Given the description of an element on the screen output the (x, y) to click on. 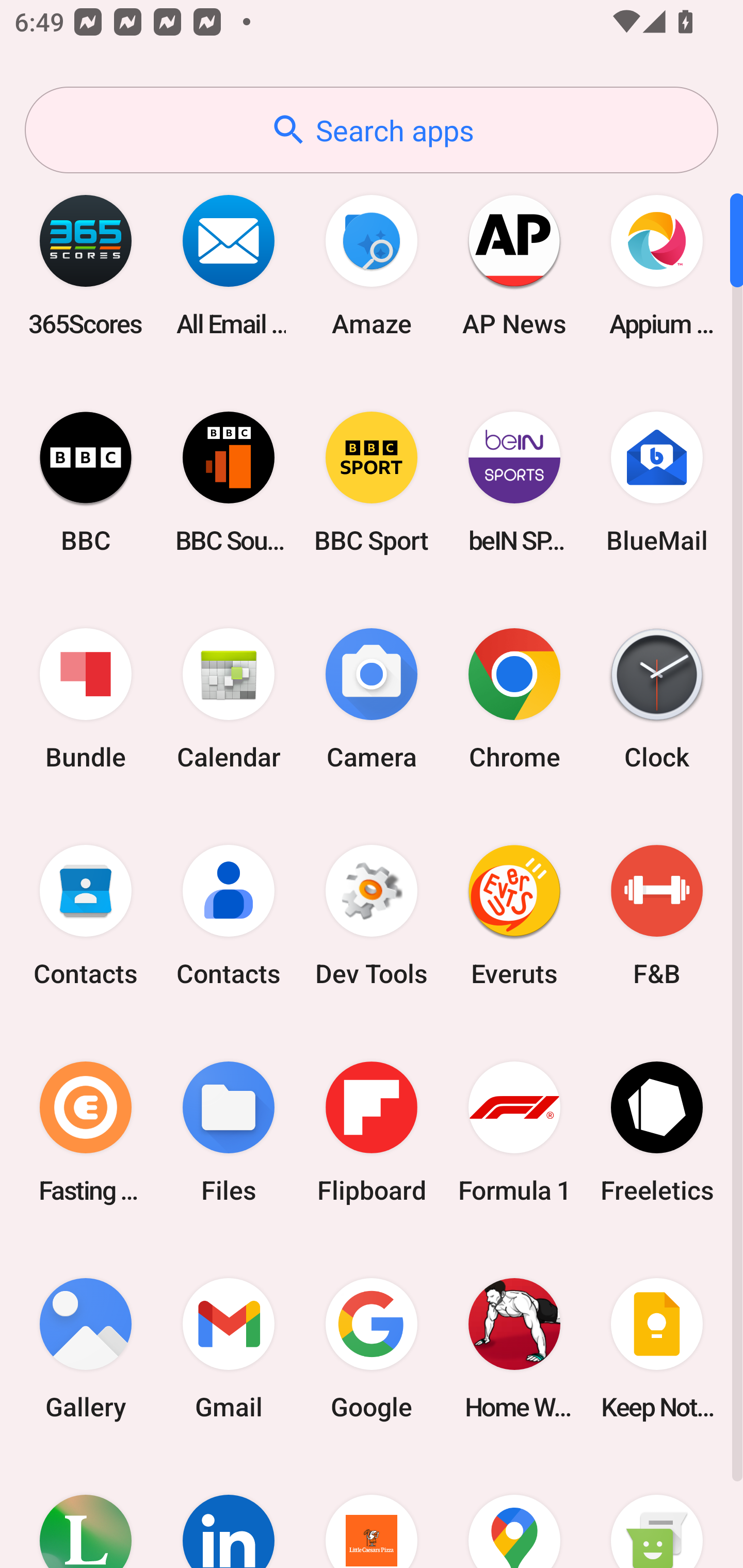
  Search apps (371, 130)
365Scores (85, 264)
All Email Connect (228, 264)
Amaze (371, 264)
AP News (514, 264)
Appium Settings (656, 264)
BBC (85, 482)
BBC Sounds (228, 482)
BBC Sport (371, 482)
beIN SPORTS (514, 482)
BlueMail (656, 482)
Bundle (85, 699)
Calendar (228, 699)
Camera (371, 699)
Chrome (514, 699)
Clock (656, 699)
Contacts (85, 915)
Contacts (228, 915)
Dev Tools (371, 915)
Everuts (514, 915)
F&B (656, 915)
Fasting Coach (85, 1131)
Files (228, 1131)
Flipboard (371, 1131)
Formula 1 (514, 1131)
Freeletics (656, 1131)
Gallery (85, 1348)
Gmail (228, 1348)
Google (371, 1348)
Home Workout (514, 1348)
Keep Notes (656, 1348)
Lifesum (85, 1512)
LinkedIn (228, 1512)
Little Caesars Pizza (371, 1512)
Maps (514, 1512)
Messaging (656, 1512)
